Given the description of an element on the screen output the (x, y) to click on. 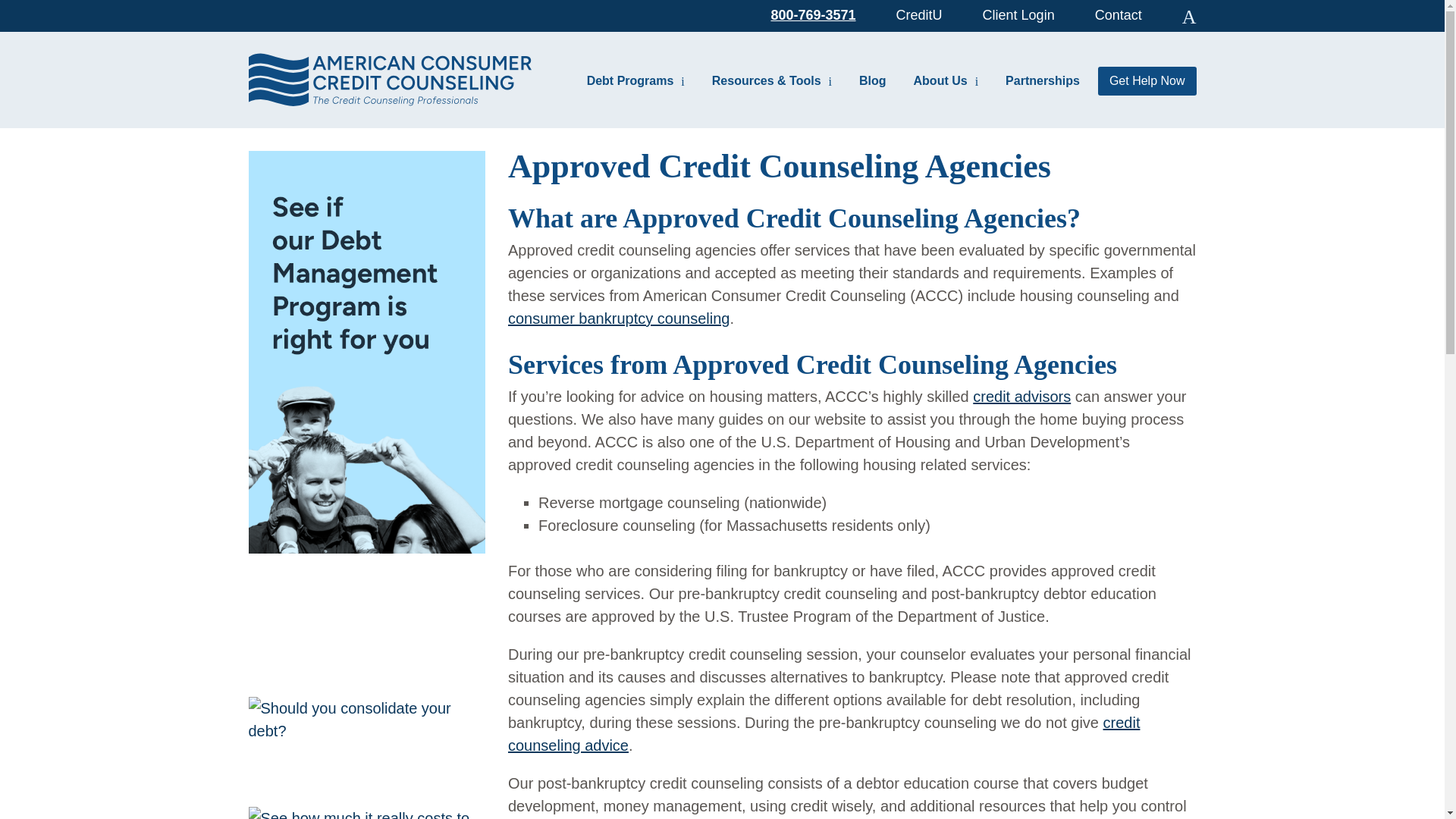
CreditU (919, 14)
800-769-3571 (813, 14)
Contact (1117, 14)
Debt Programs (635, 80)
Client Login (1018, 14)
